Given the description of an element on the screen output the (x, y) to click on. 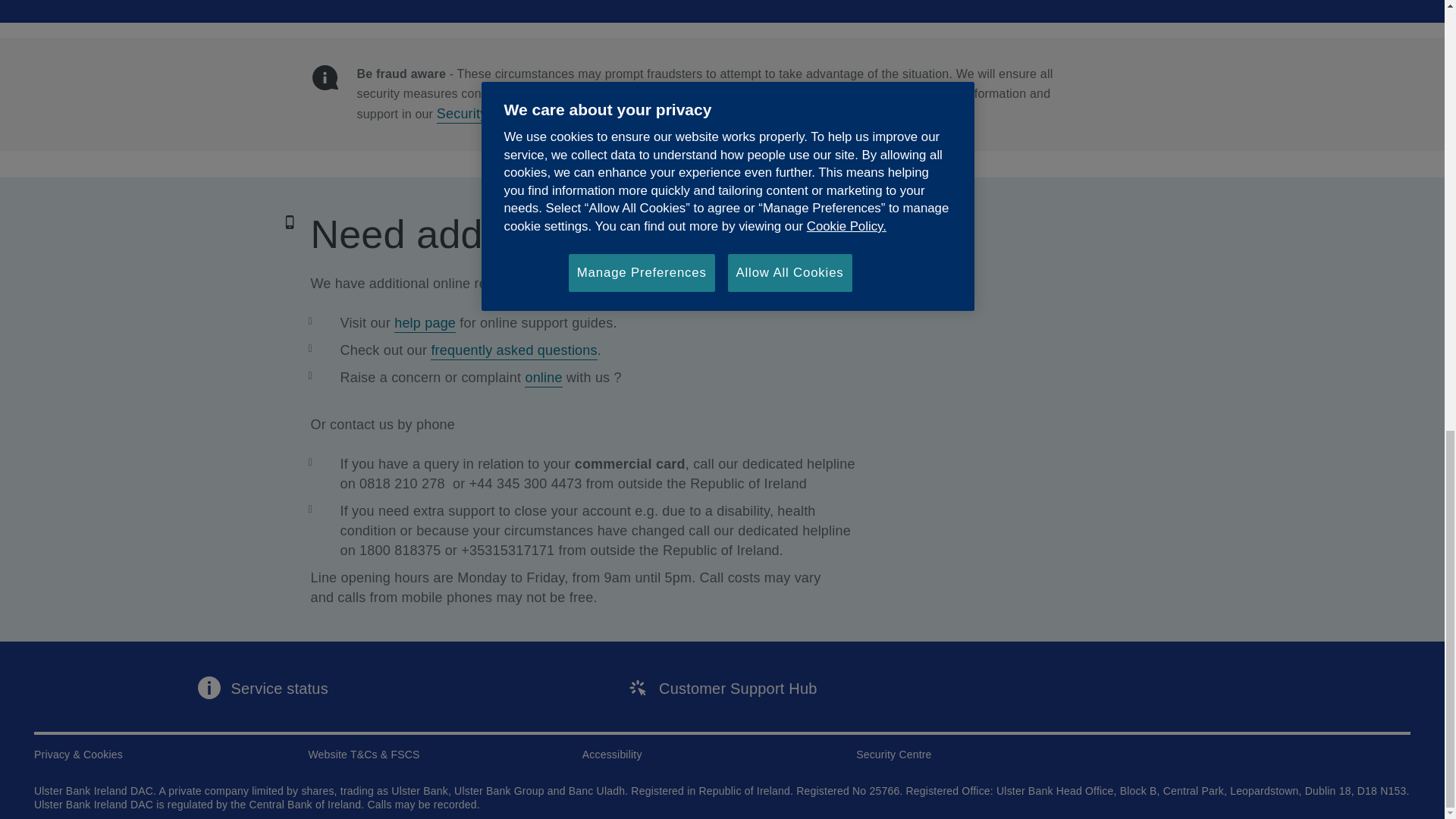
Security Centre (893, 753)
Accessibility (612, 753)
Service status (262, 686)
Security Centre. (486, 112)
online (543, 376)
frequently asked questions (513, 349)
Customer Support Hub (721, 686)
help page (424, 321)
